Given the description of an element on the screen output the (x, y) to click on. 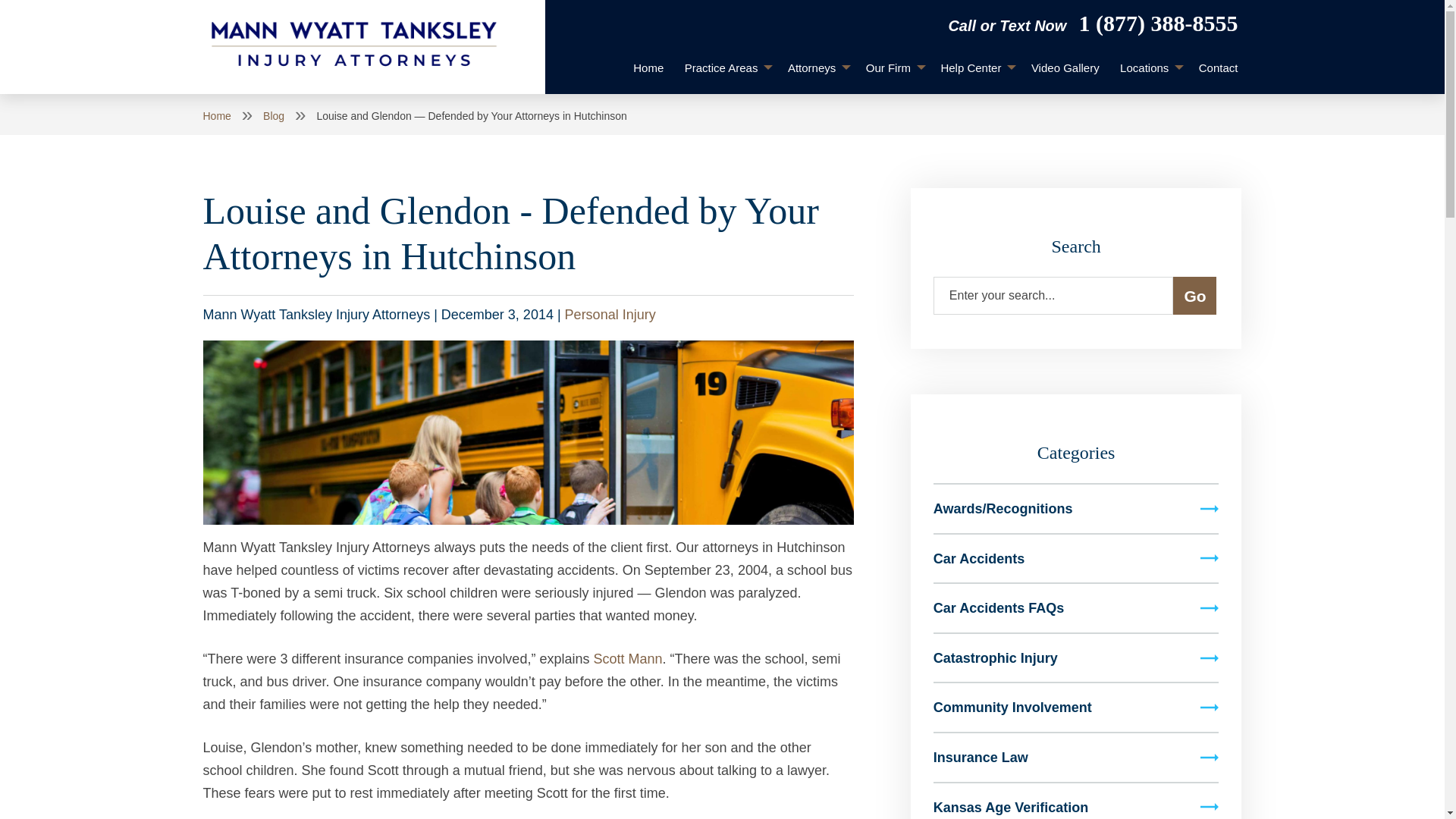
Home (648, 68)
Go (1194, 295)
Practice Areas (725, 68)
Practice Areas (725, 68)
Our Firm (893, 68)
Home (648, 68)
Attorneys (815, 68)
Help Center (975, 68)
Locations (1148, 68)
Attorneys (815, 68)
